Given the description of an element on the screen output the (x, y) to click on. 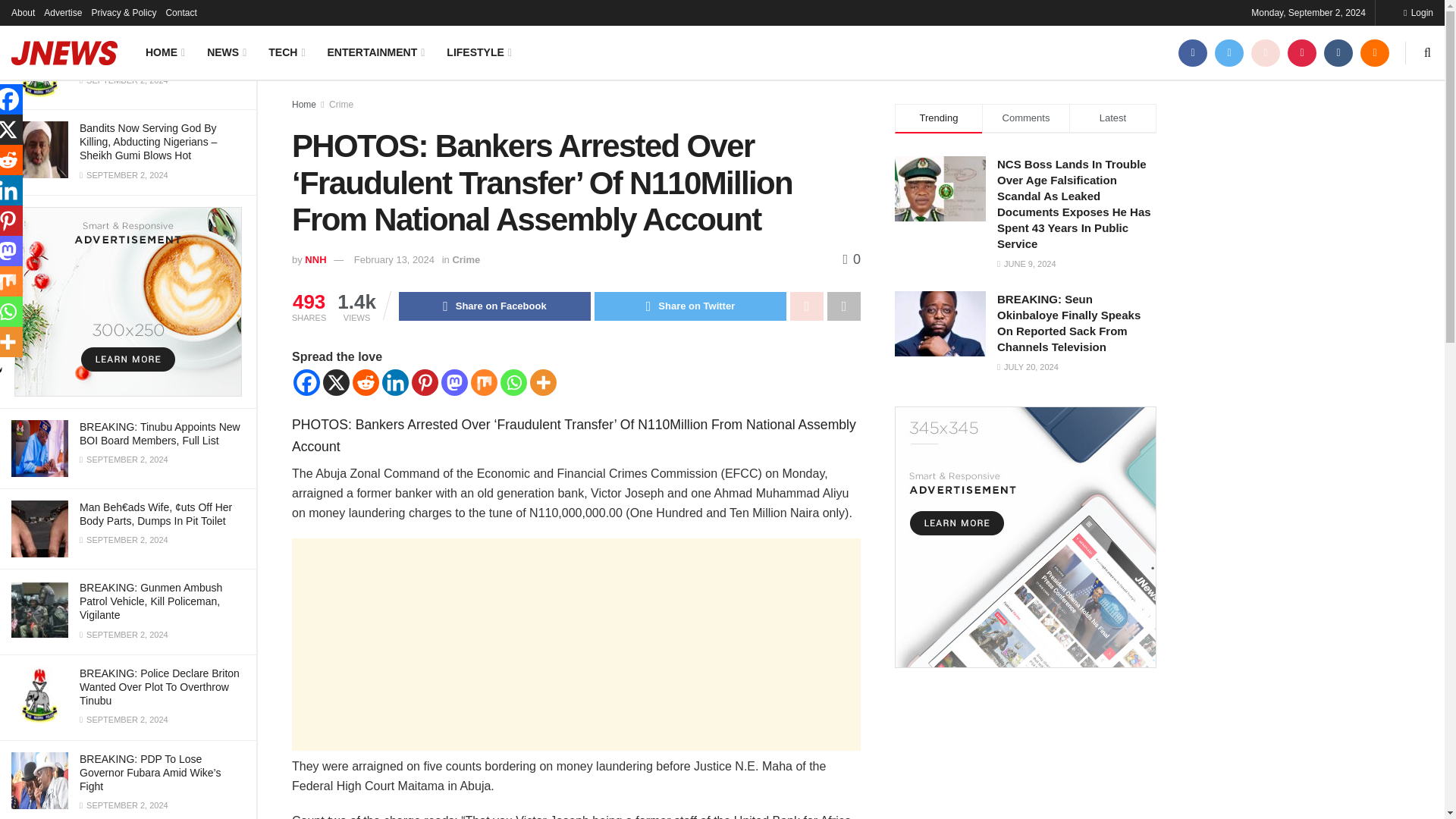
Facebook (307, 382)
Pinterest (425, 382)
Linkedin (395, 382)
Filter (227, 13)
Reddit (365, 382)
More (542, 382)
Tears In Enugu As Mother, Daughter, Others Die In Sleep (150, 54)
About (22, 12)
Whatsapp (513, 382)
